Given the description of an element on the screen output the (x, y) to click on. 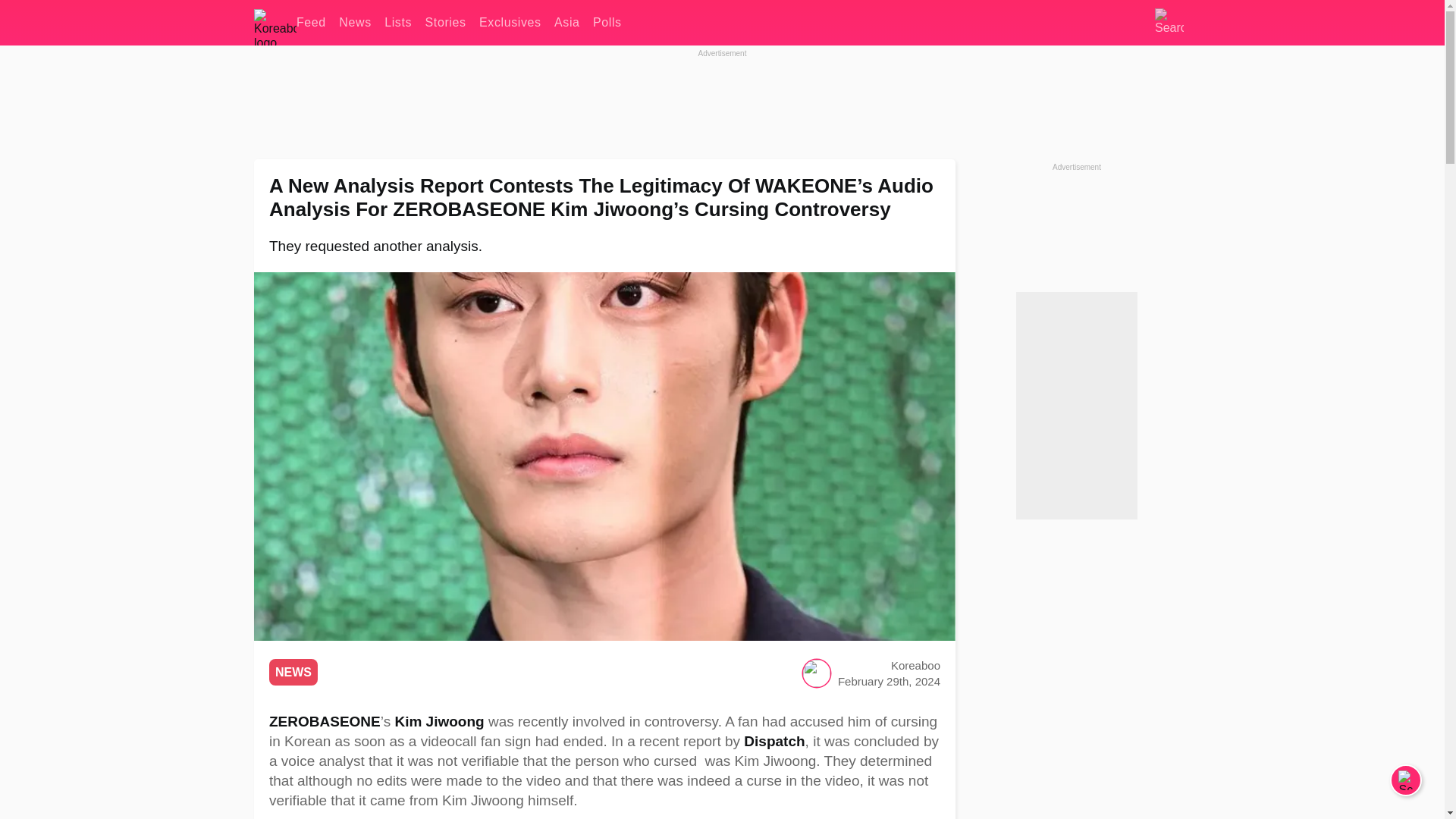
NEWS (293, 671)
Stories (445, 22)
Exclusives (510, 22)
